Given the description of an element on the screen output the (x, y) to click on. 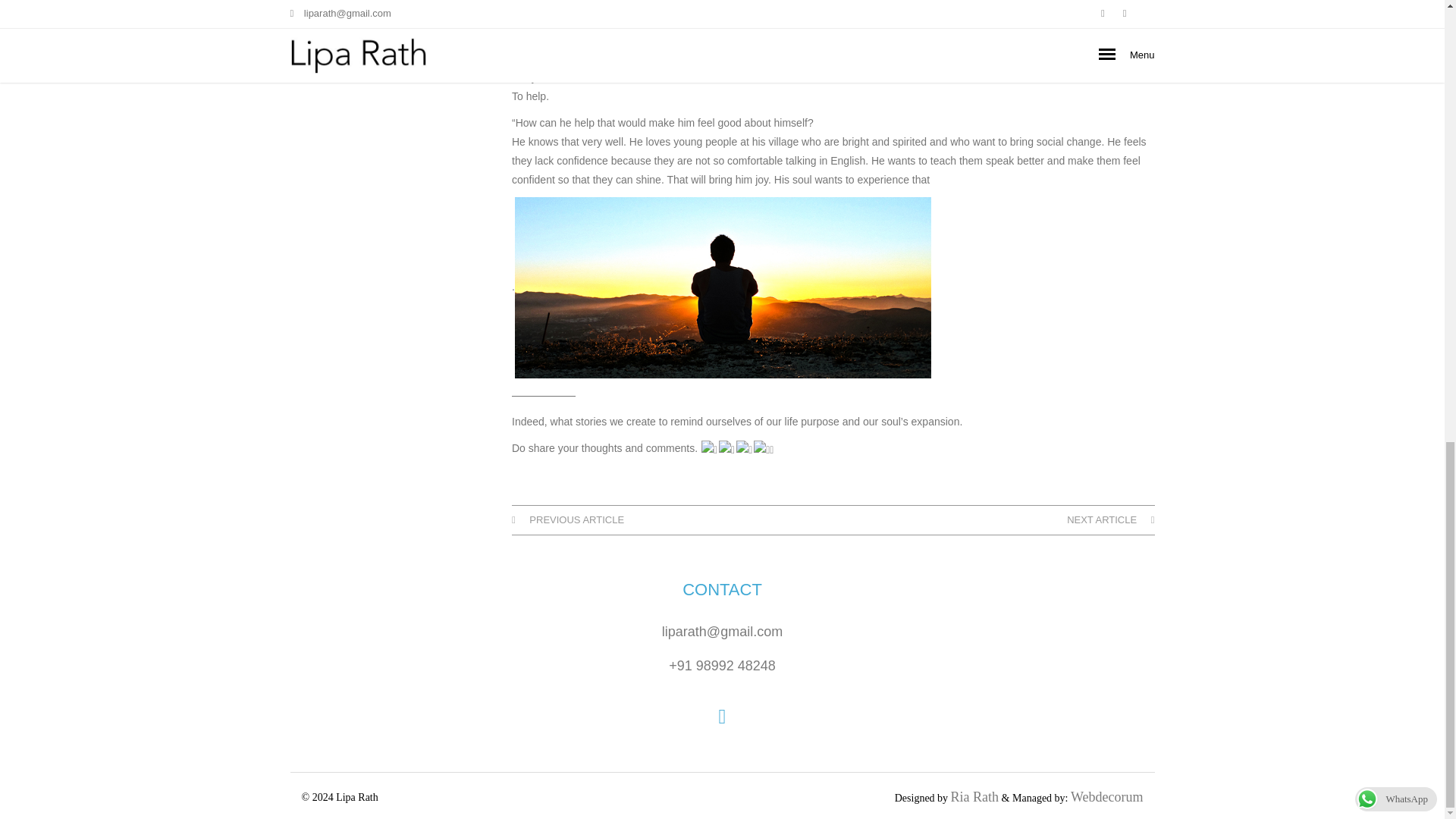
Ria Rath (974, 796)
NEXT ARTICLE (1110, 519)
PREVIOUS ARTICLE (568, 519)
Webdecorum (1106, 796)
